Given the description of an element on the screen output the (x, y) to click on. 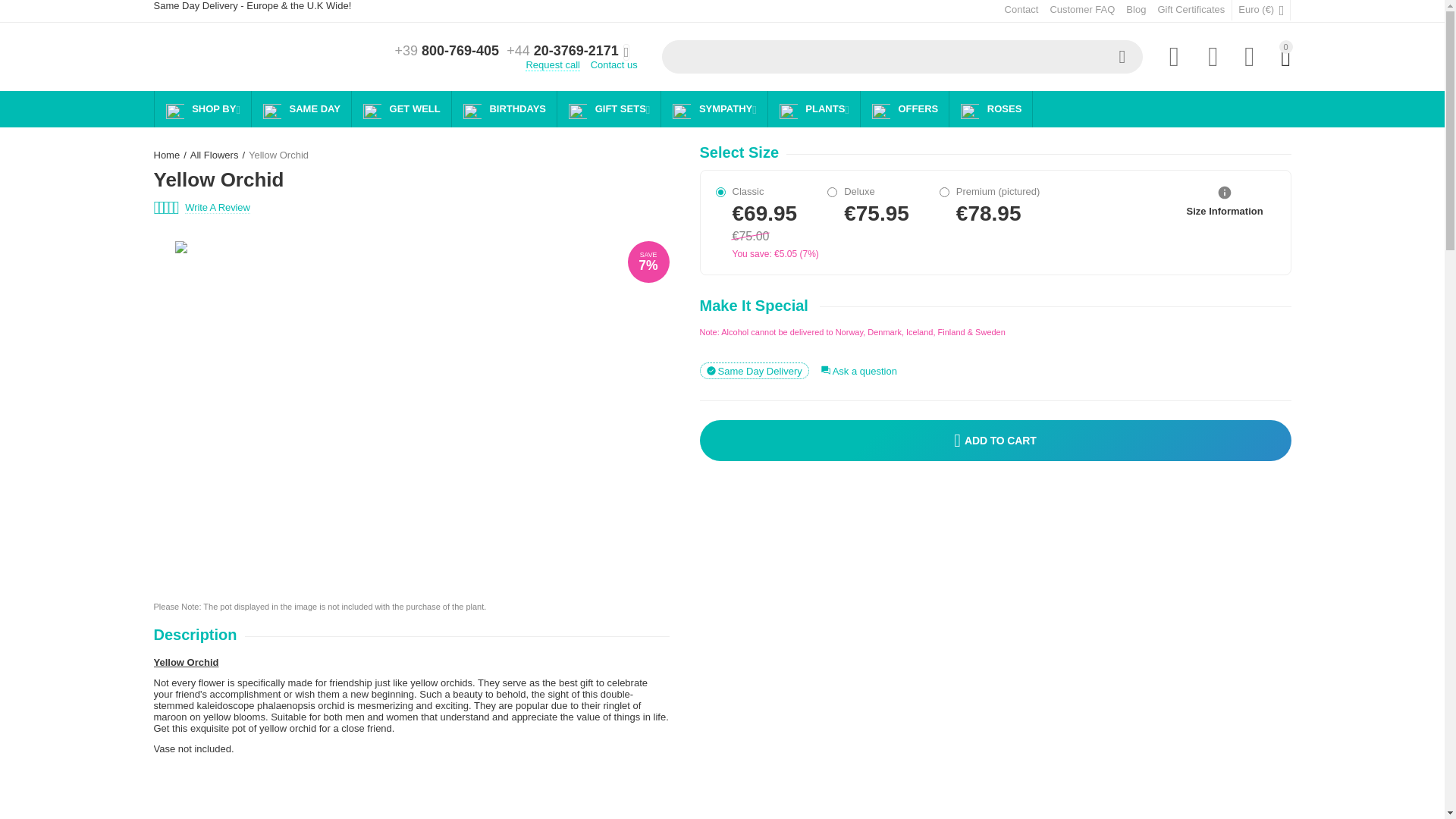
Request call (552, 64)
Contact (1021, 9)
Gift Certificates (1190, 9)
Customer FAQ (1082, 9)
Contact us (614, 64)
Search (1121, 56)
Blog (1135, 9)
Request call (552, 64)
